Given the description of an element on the screen output the (x, y) to click on. 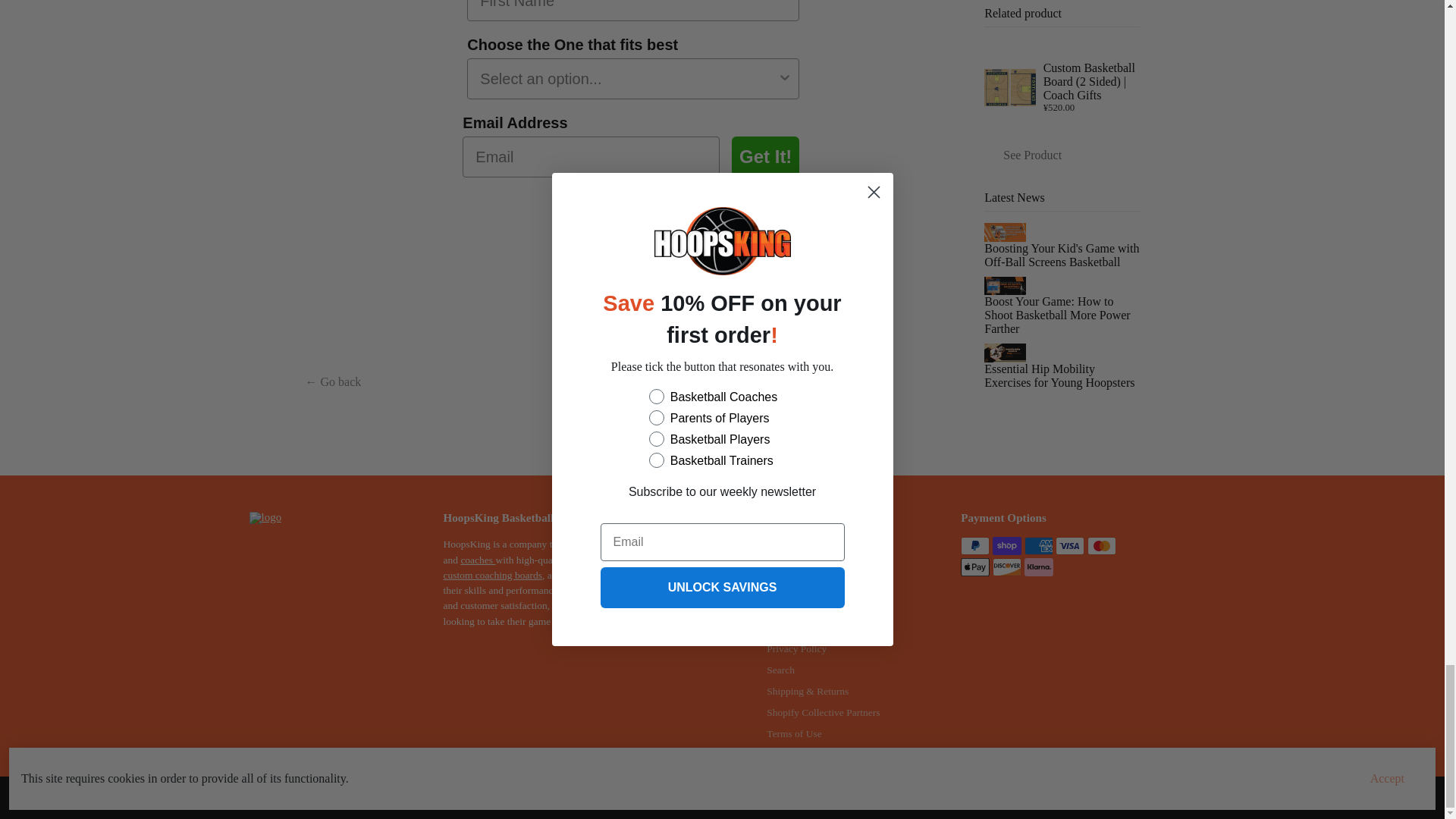
American Express (1038, 546)
Shop Pay (1007, 546)
Apple Pay (975, 566)
Mastercard (1101, 546)
PayPal (975, 546)
Visa (1069, 546)
Klarna (1038, 566)
Discover (1007, 566)
